Given the description of an element on the screen output the (x, y) to click on. 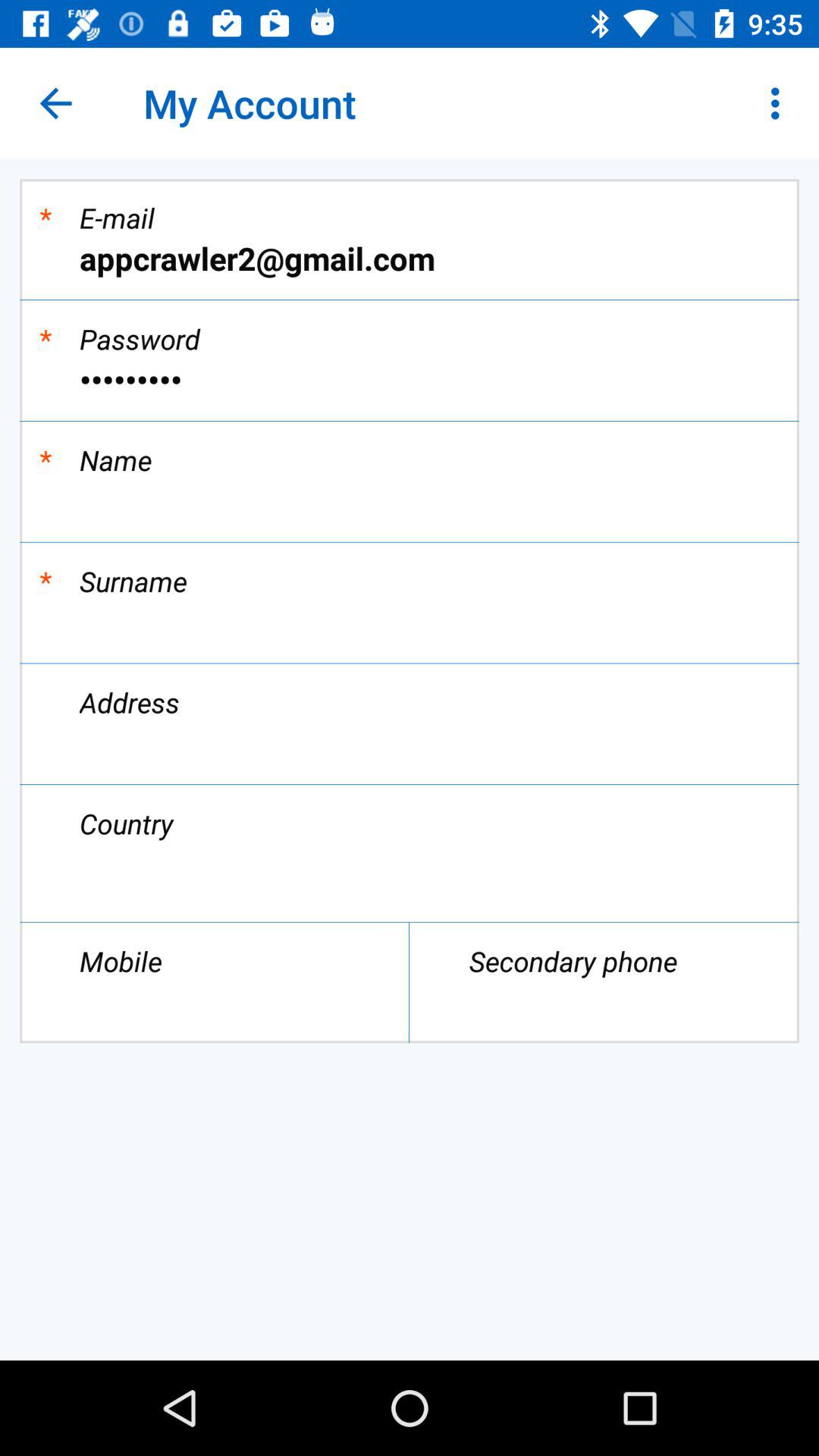
choose item below * icon (409, 378)
